Given the description of an element on the screen output the (x, y) to click on. 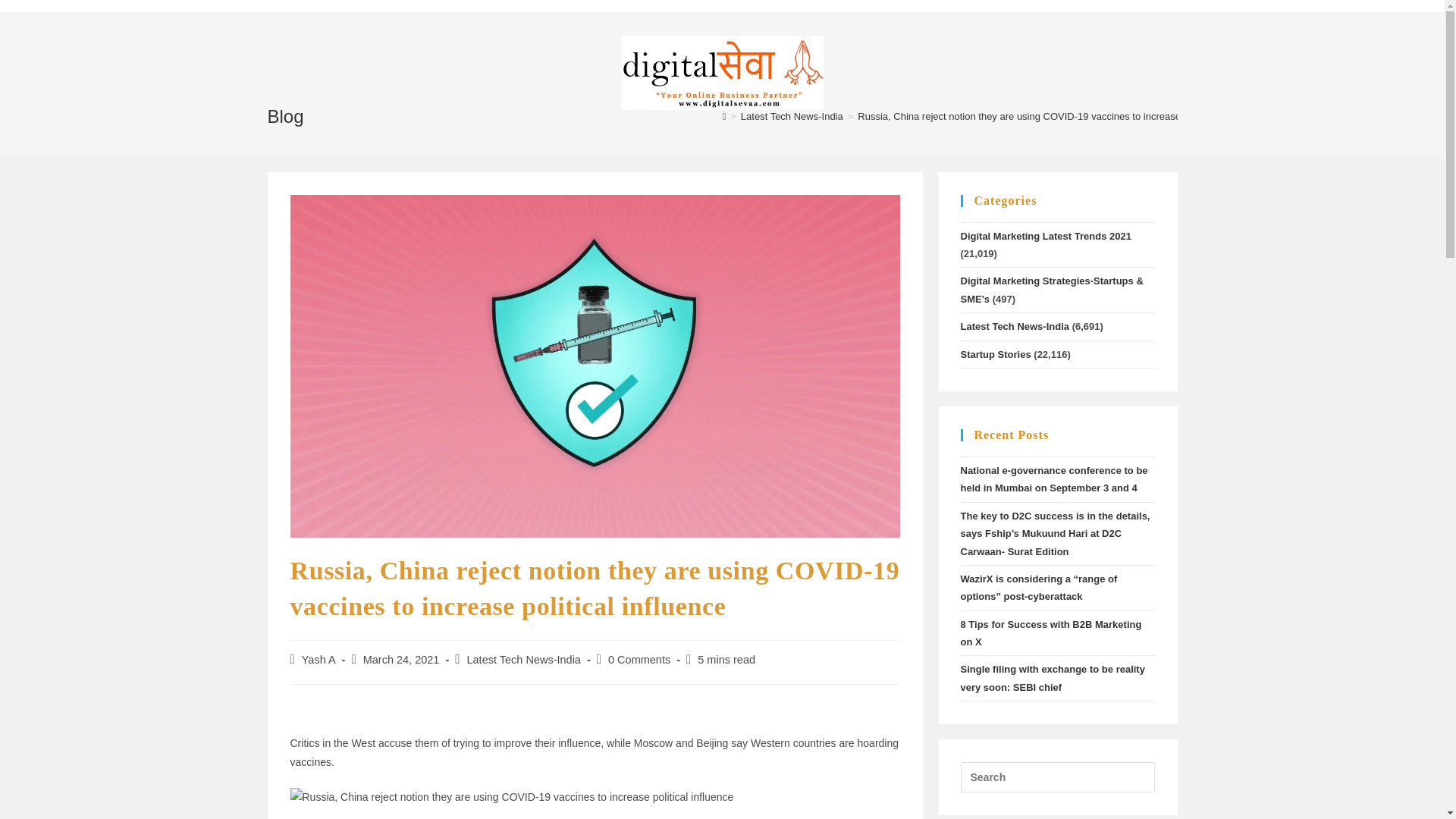
Latest Tech News-India (522, 659)
0 Comments (638, 659)
Latest Tech News-India (792, 116)
Yash A (318, 659)
Posts by Yash A (318, 659)
